Given the description of an element on the screen output the (x, y) to click on. 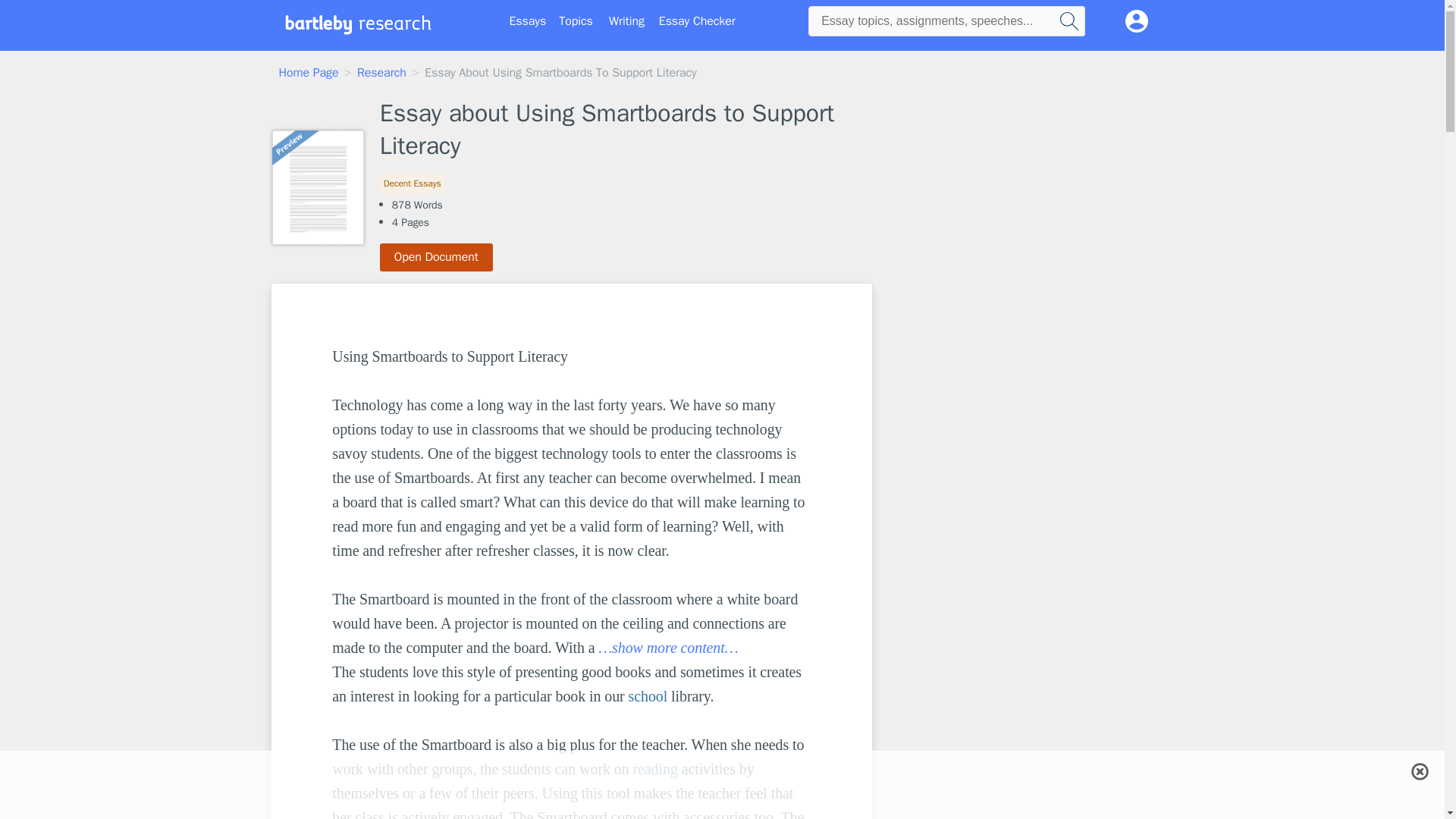
reading (654, 768)
Open Document (436, 257)
Topics (575, 20)
Home Page (309, 72)
3rd party ad content (721, 769)
Essay Checker (697, 20)
Writing (626, 20)
Research (381, 72)
Essays (528, 20)
school (648, 695)
